Given the description of an element on the screen output the (x, y) to click on. 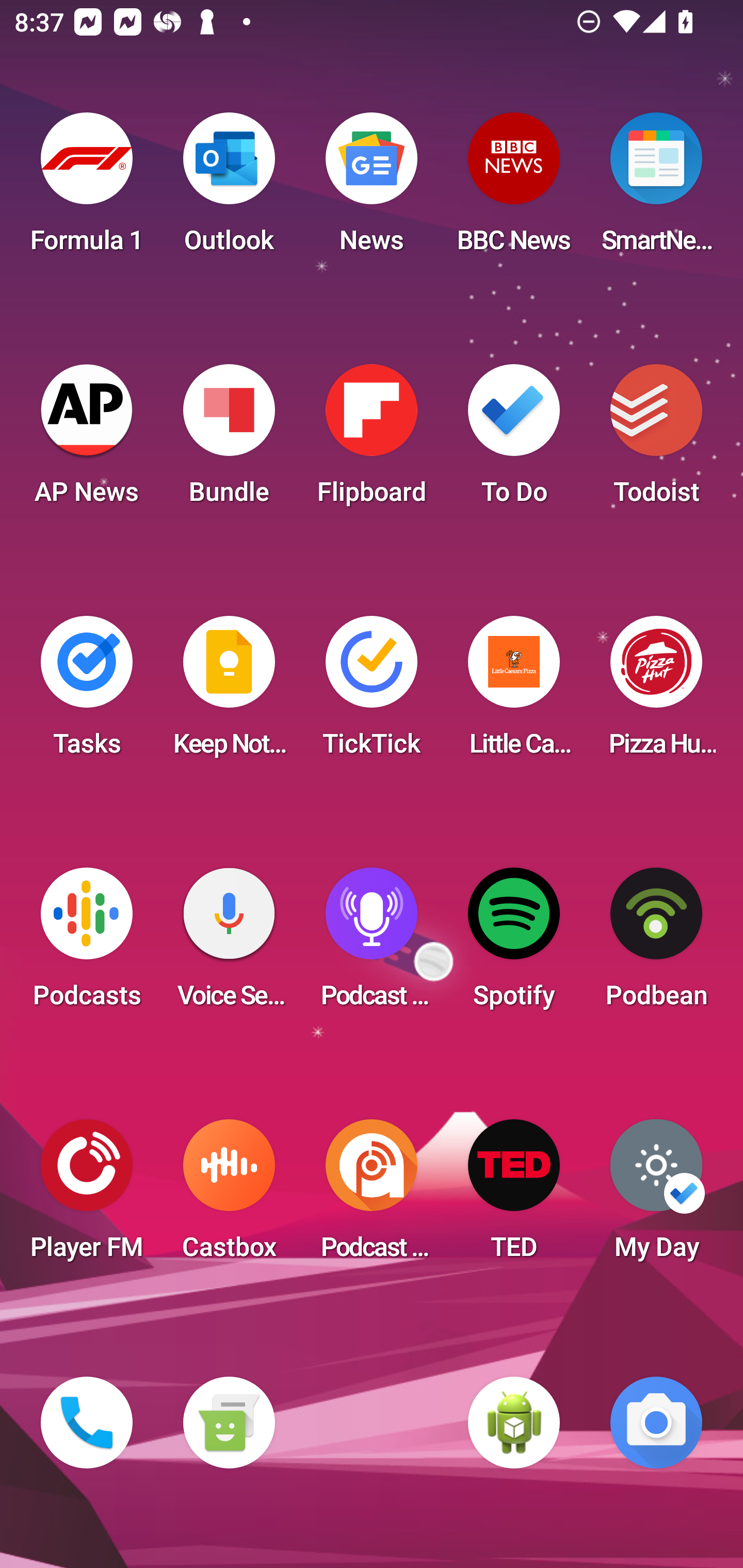
Formula 1 (86, 188)
Outlook (228, 188)
News (371, 188)
BBC News (513, 188)
SmartNews (656, 188)
AP News (86, 440)
Bundle (228, 440)
Flipboard (371, 440)
To Do (513, 440)
Todoist (656, 440)
Tasks (86, 692)
Keep Notes (228, 692)
TickTick (371, 692)
Little Caesars Pizza (513, 692)
Pizza Hut HK & Macau (656, 692)
Podcasts (86, 943)
Voice Search (228, 943)
Podcast Player (371, 943)
Spotify (513, 943)
Podbean (656, 943)
Player FM (86, 1195)
Castbox (228, 1195)
Podcast Addict (371, 1195)
TED (513, 1195)
My Day (656, 1195)
Phone (86, 1422)
Messaging (228, 1422)
WebView Browser Tester (513, 1422)
Camera (656, 1422)
